Given the description of an element on the screen output the (x, y) to click on. 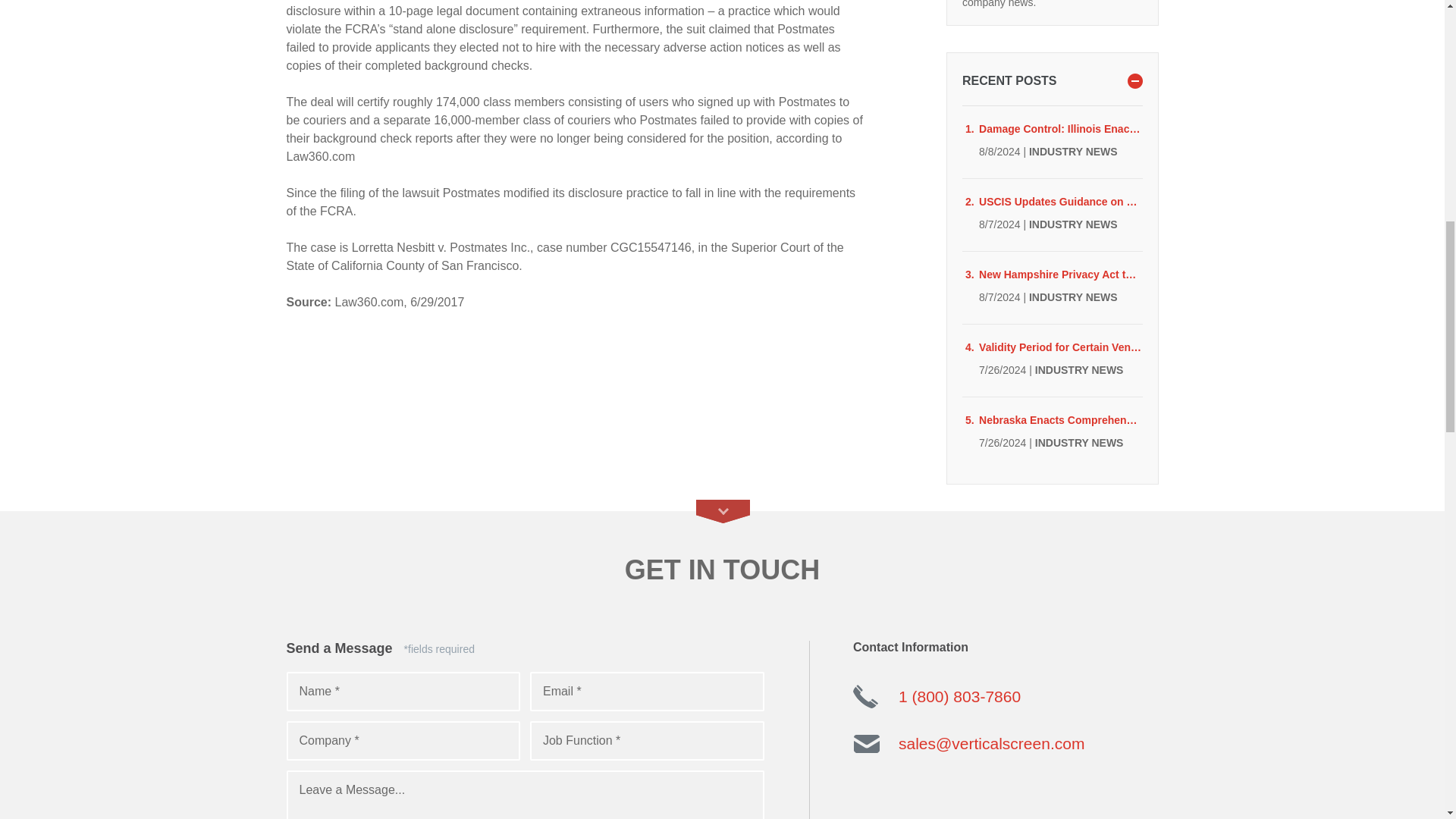
Validity Period for Certain Venezuelan Passports Extended (1059, 346)
New Hampshire Privacy Act to Take Effect January 1, 2025 (1059, 273)
Nebraska Enacts Comprehensive Consumer Data Privacy Law (1059, 419)
RECENT POSTS (1051, 81)
